Given the description of an element on the screen output the (x, y) to click on. 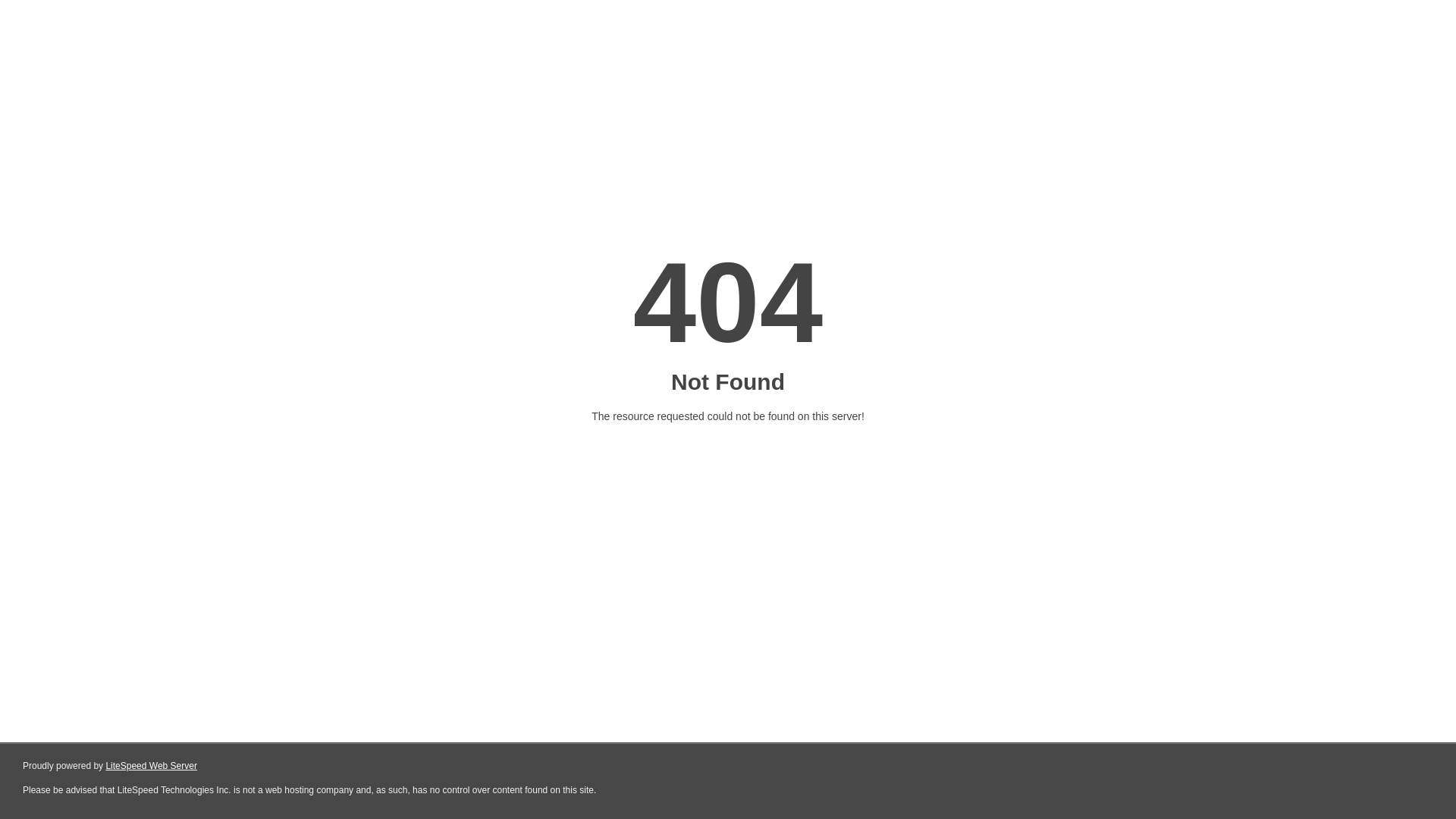
LiteSpeed Web Server Element type: text (151, 765)
